Given the description of an element on the screen output the (x, y) to click on. 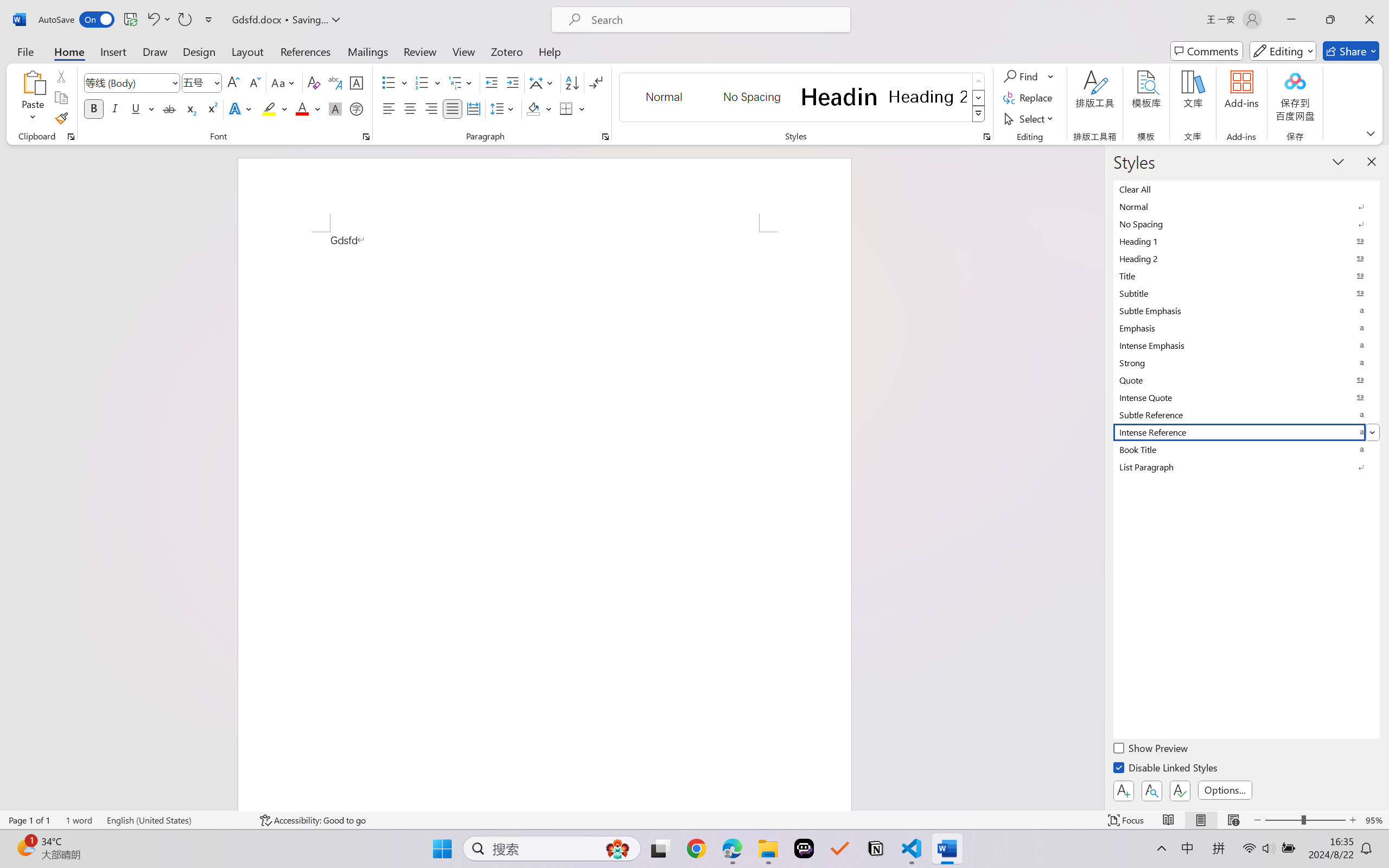
Disable Linked Styles (1166, 769)
Repeat Style (184, 19)
Enclose Characters... (356, 108)
Superscript (210, 108)
Strong (1246, 362)
Subtle Reference (1246, 414)
Font Color (308, 108)
